Given the description of an element on the screen output the (x, y) to click on. 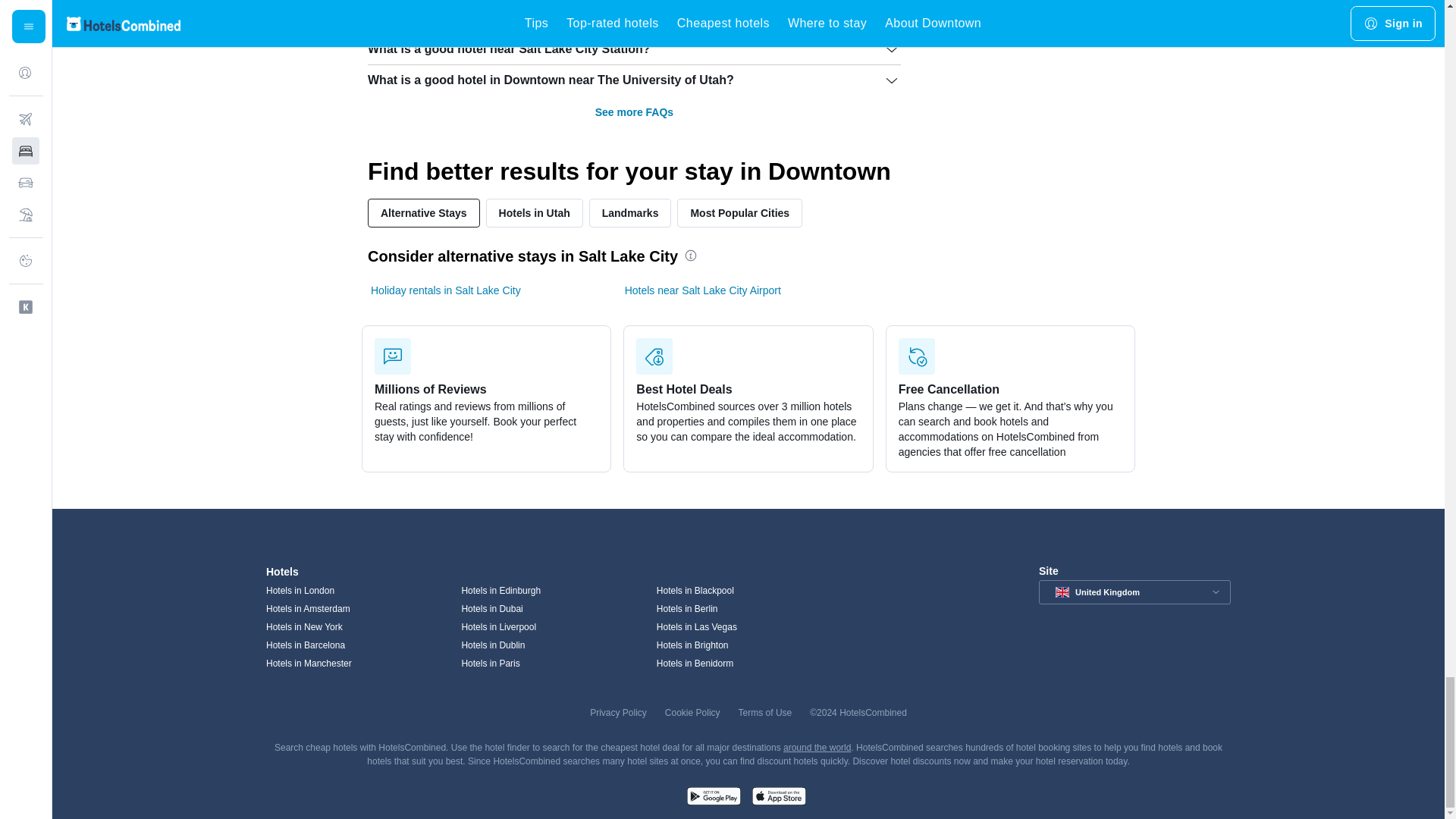
Download on the App Store (778, 797)
Get it on Google Play (713, 797)
